Given the description of an element on the screen output the (x, y) to click on. 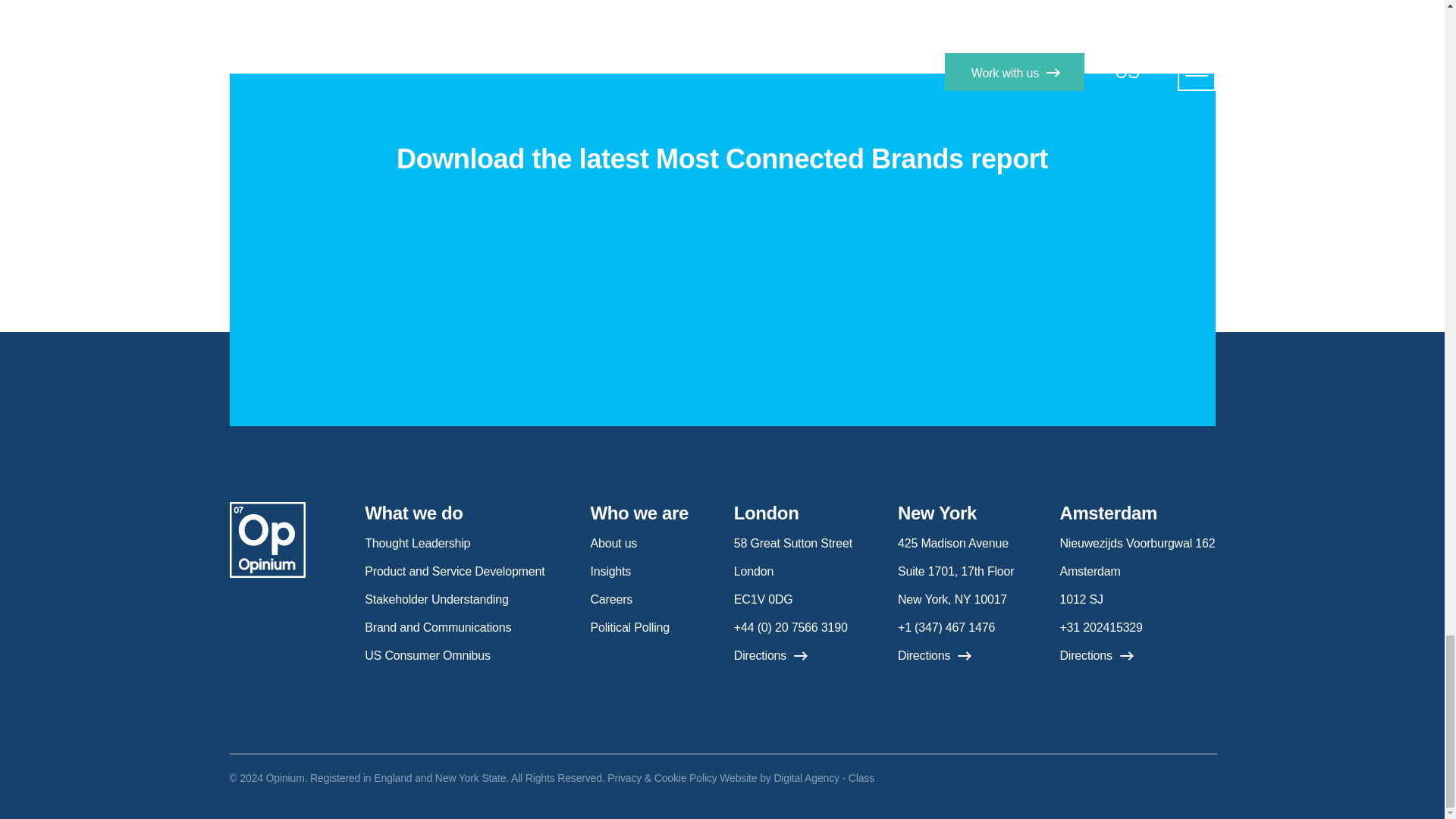
About us (613, 543)
Brand and Communications (438, 626)
US Consumer Omnibus (427, 655)
Political Polling (629, 626)
Product and Service Development (454, 571)
Stakeholder Understanding (436, 599)
Careers (610, 599)
Thought Leadership (417, 543)
Insights (609, 571)
What we do (414, 512)
